Given the description of an element on the screen output the (x, y) to click on. 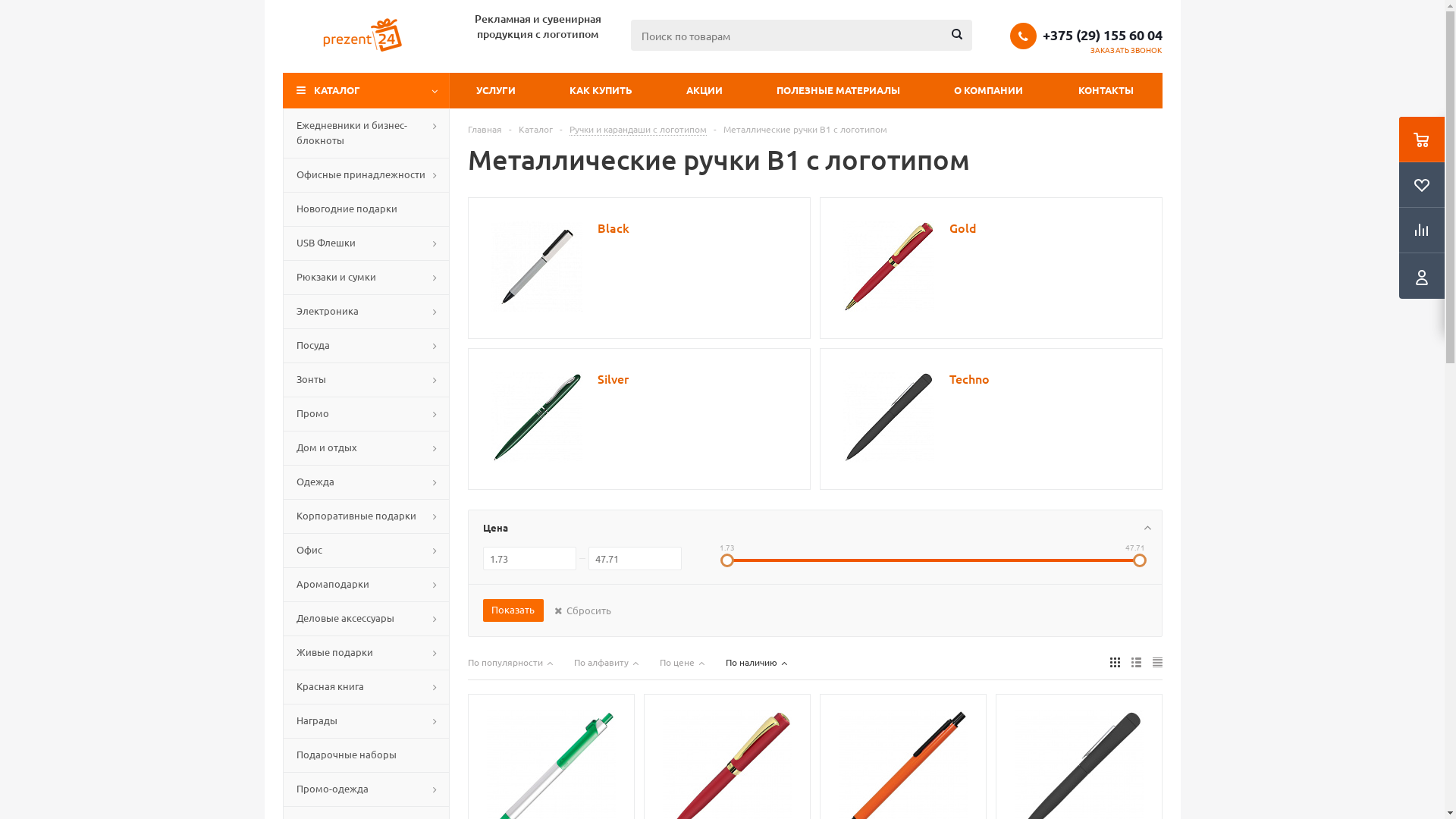
Silver Element type: hover (536, 416)
Techno Element type: text (969, 379)
Techno Element type: hover (888, 416)
Gold Element type: hover (888, 265)
Black Element type: hover (536, 265)
Silver Element type: text (612, 379)
Black Element type: text (613, 228)
Gold Element type: text (962, 228)
+375 (29) 155 60 04 Element type: text (1101, 34)
